Given the description of an element on the screen output the (x, y) to click on. 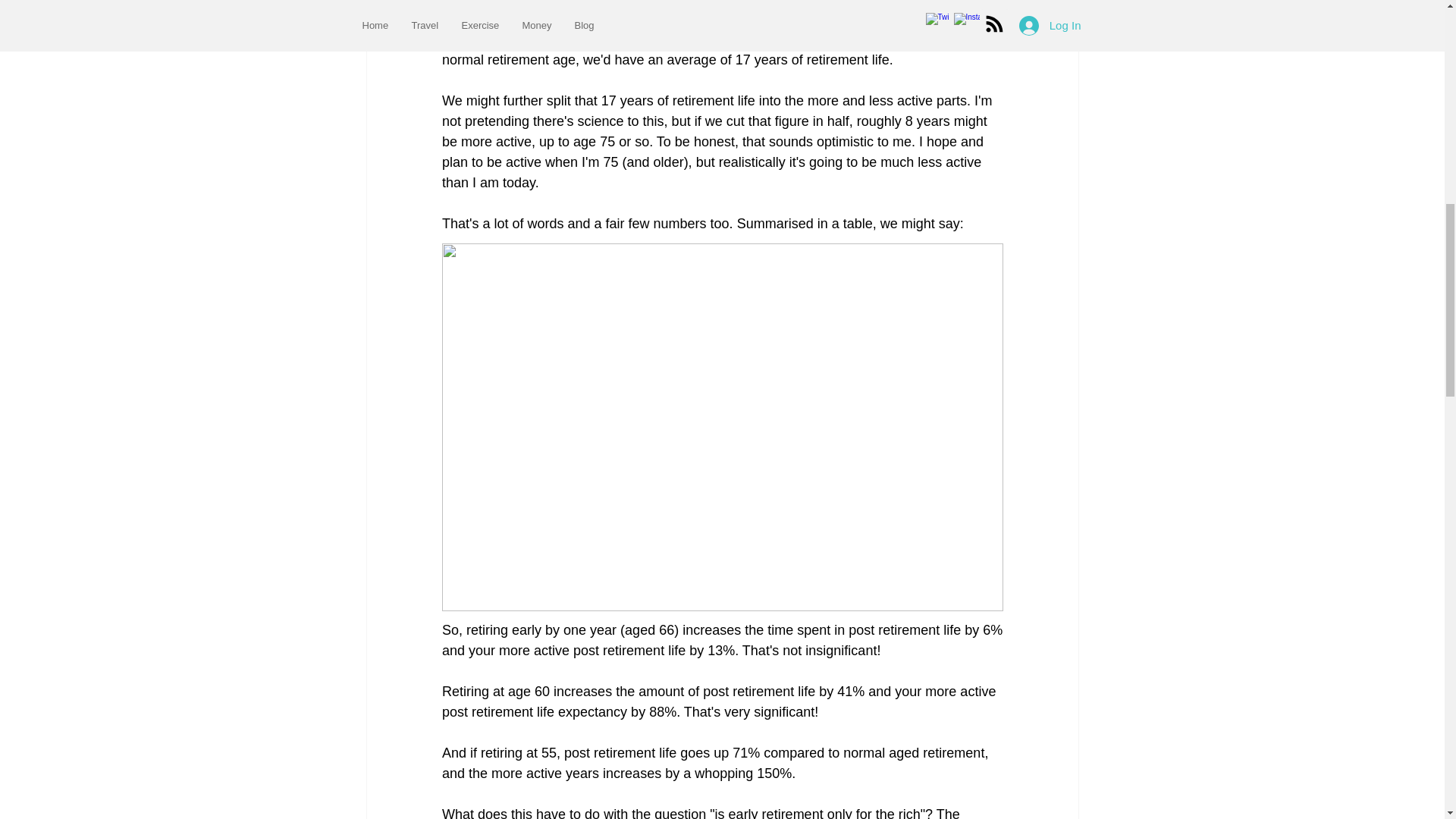
the fifty longest living countries (601, 2)
